Given the description of an element on the screen output the (x, y) to click on. 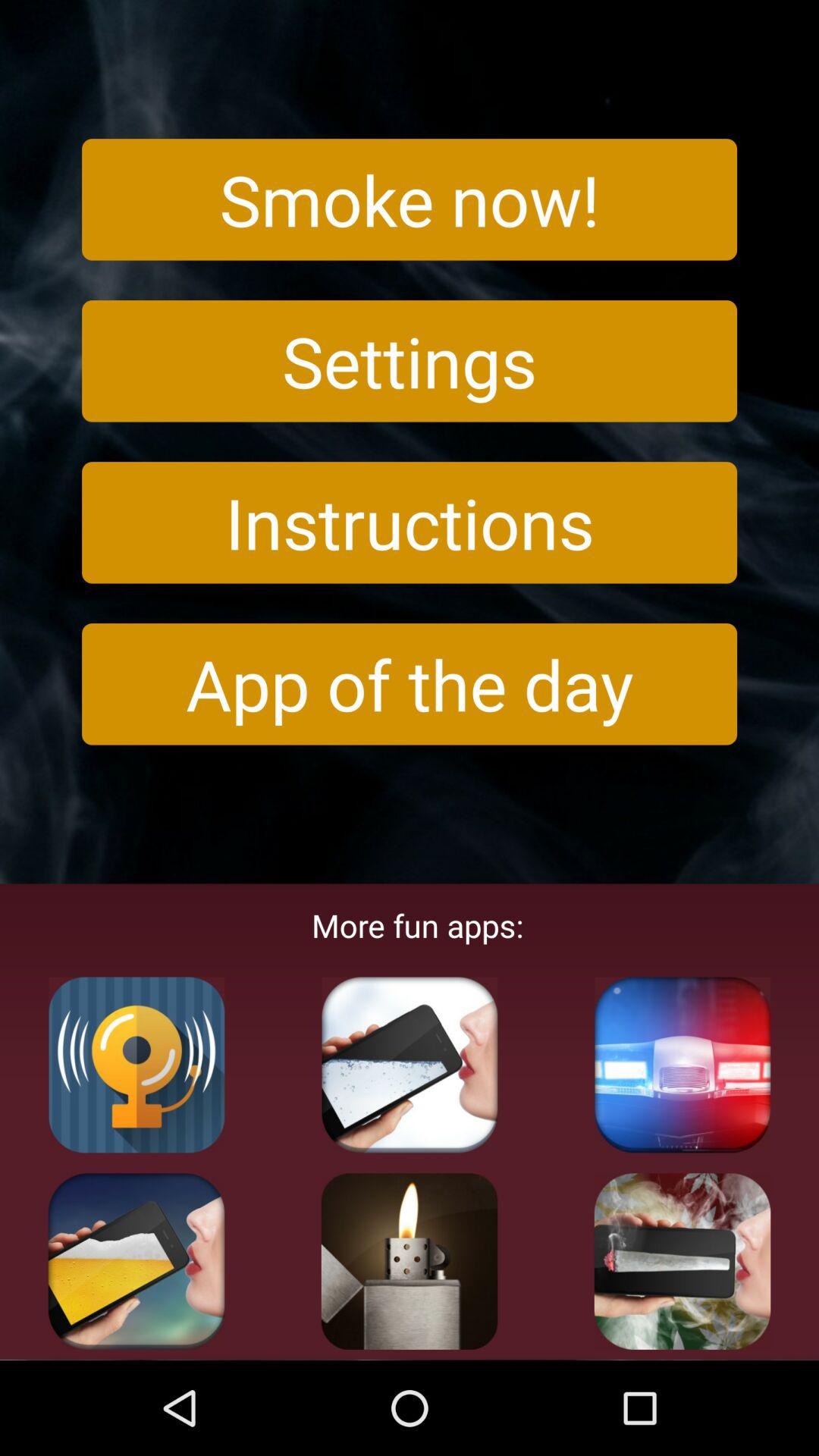
choose the selection (409, 1261)
